Given the description of an element on the screen output the (x, y) to click on. 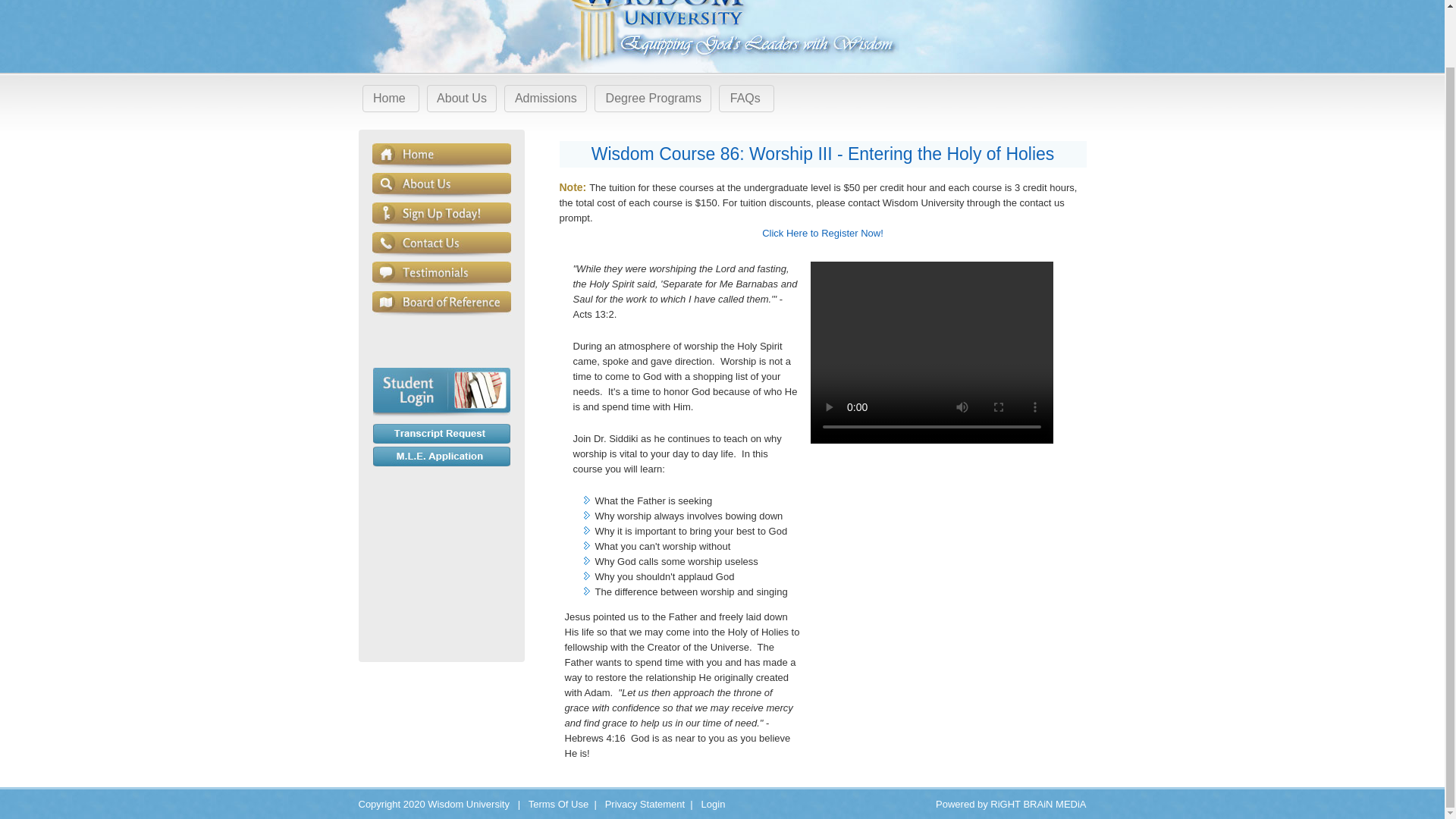
Privacy Statement (645, 803)
Login (713, 803)
Click Here to Register Now! (822, 240)
Powered by RiGHT BRAiN MEDiA (1011, 803)
Terms Of Use (558, 803)
